Given the description of an element on the screen output the (x, y) to click on. 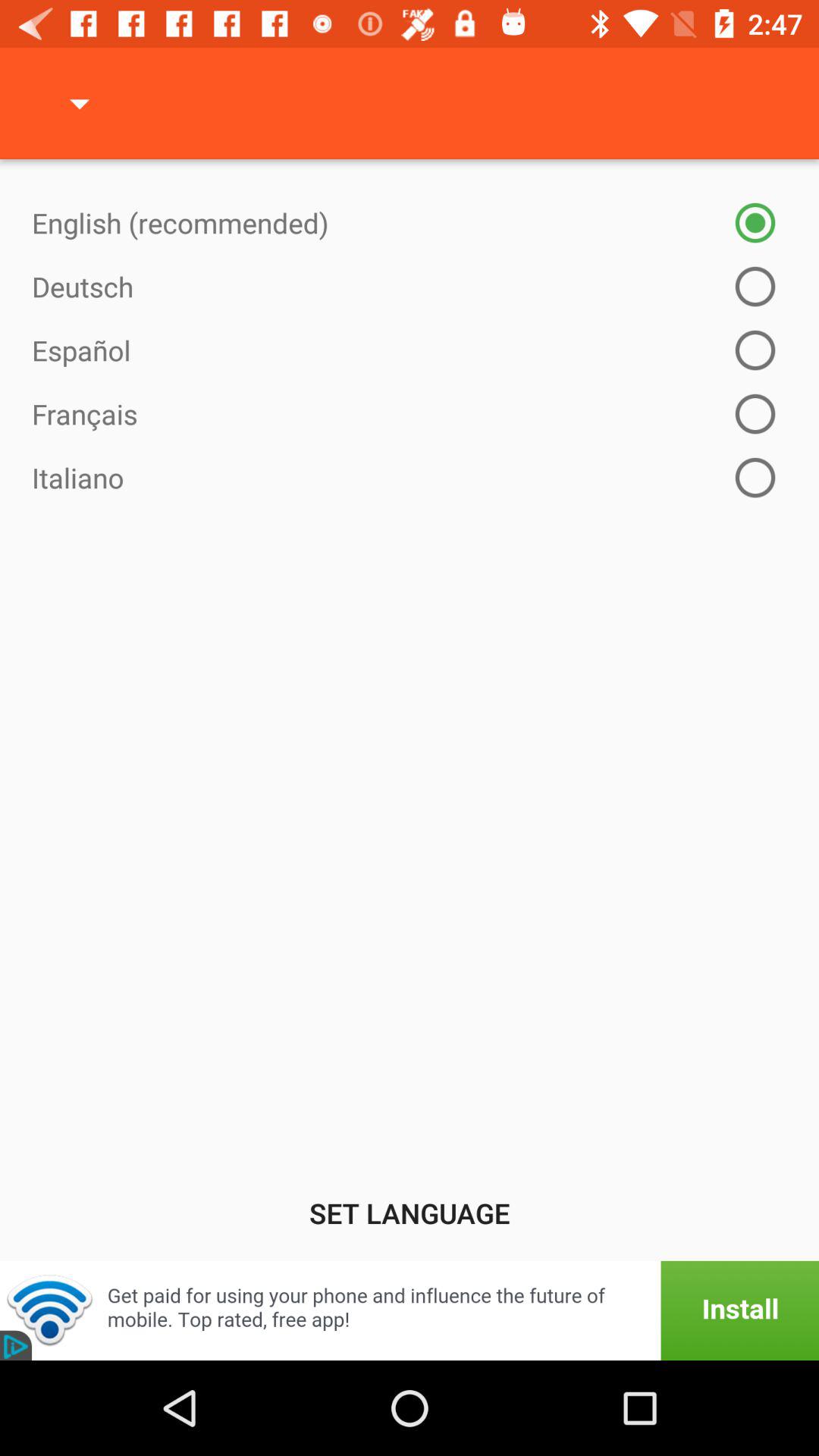
flip to the set language icon (409, 1212)
